Given the description of an element on the screen output the (x, y) to click on. 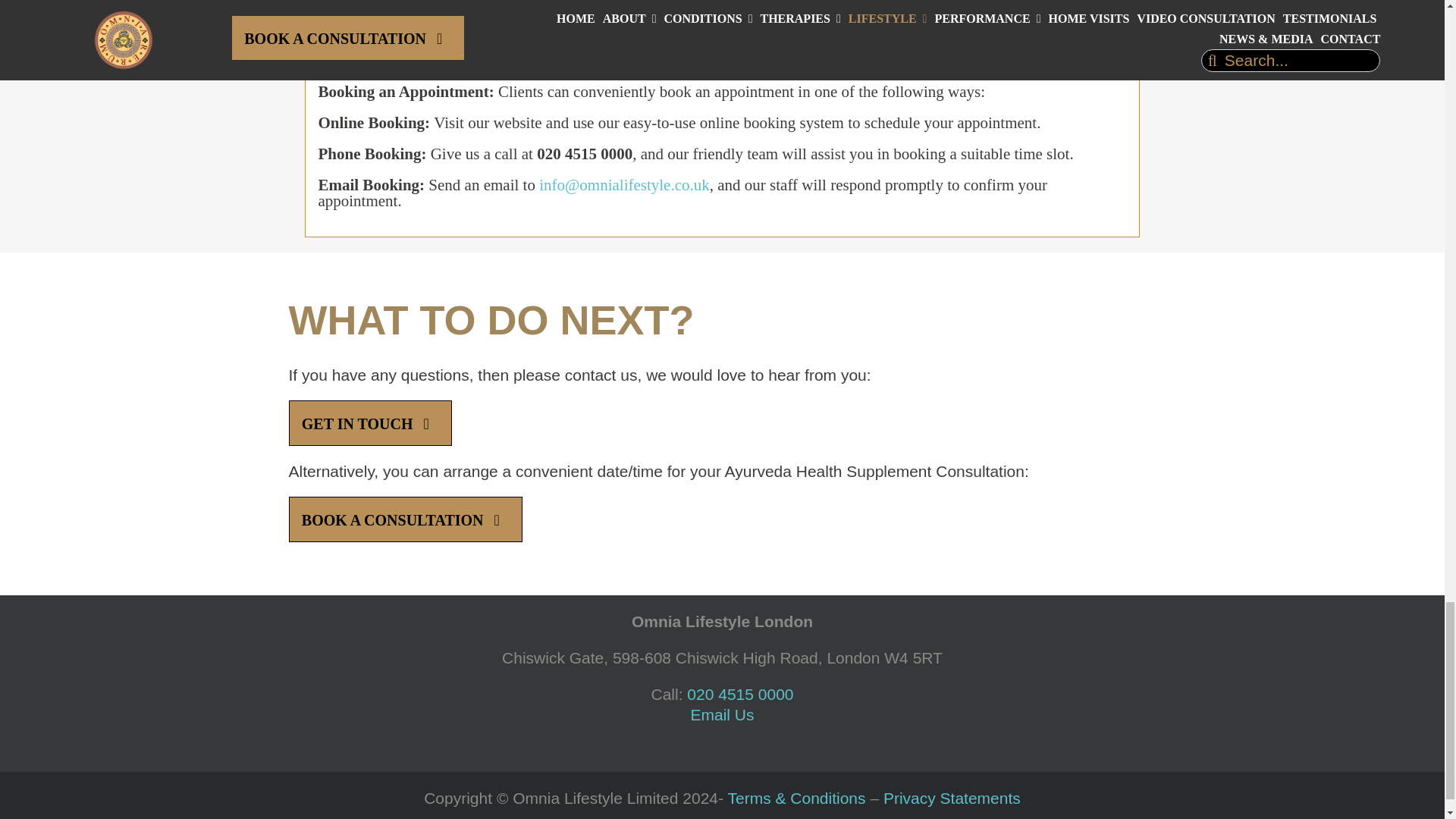
Book a Consultation (404, 519)
Get in touch (369, 422)
